Given the description of an element on the screen output the (x, y) to click on. 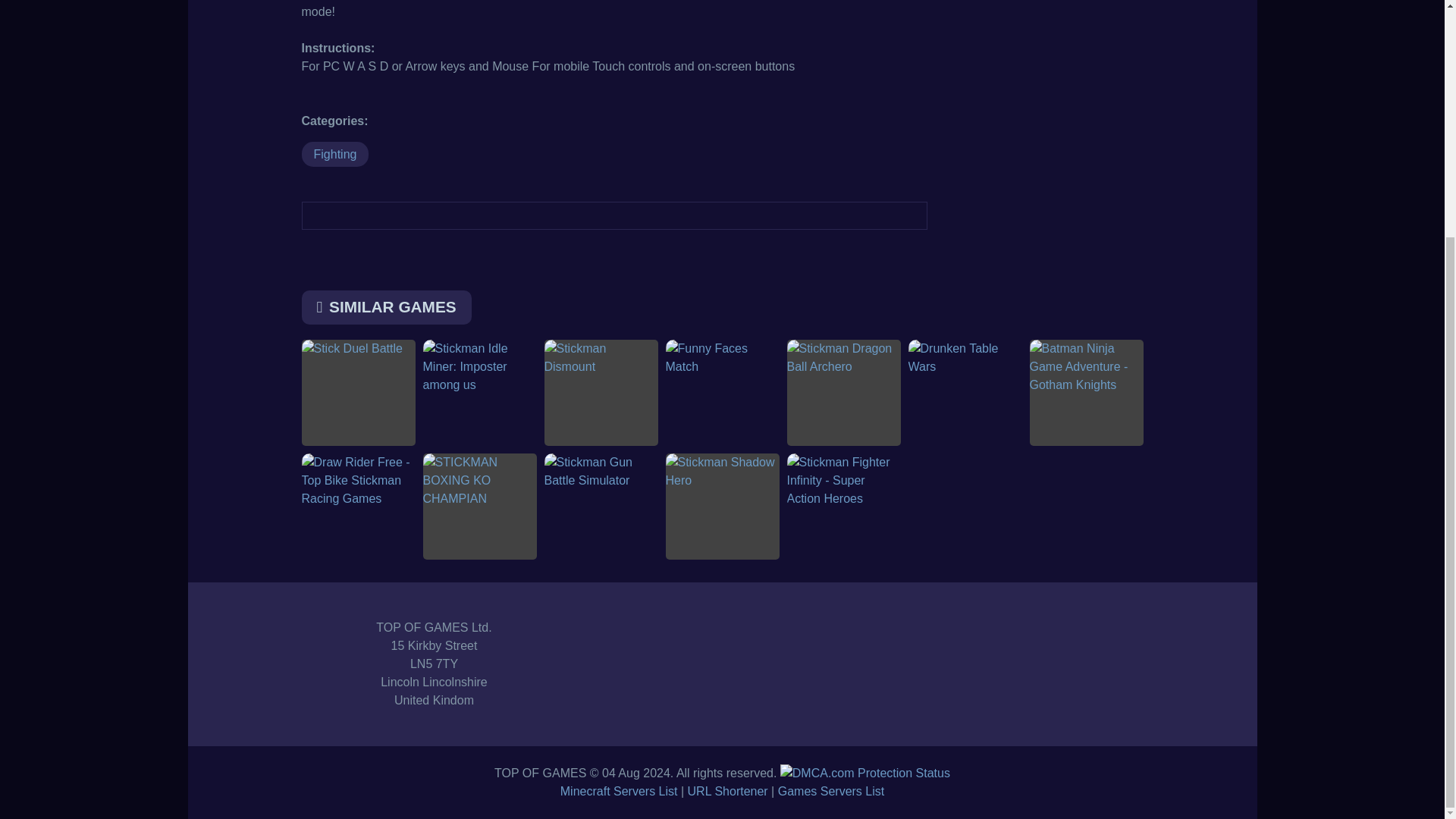
Games Servers List (830, 790)
DMCA.com Protection Status (865, 772)
Free URL Shortener (727, 790)
Free Minecraft Servers List (619, 790)
